Given the description of an element on the screen output the (x, y) to click on. 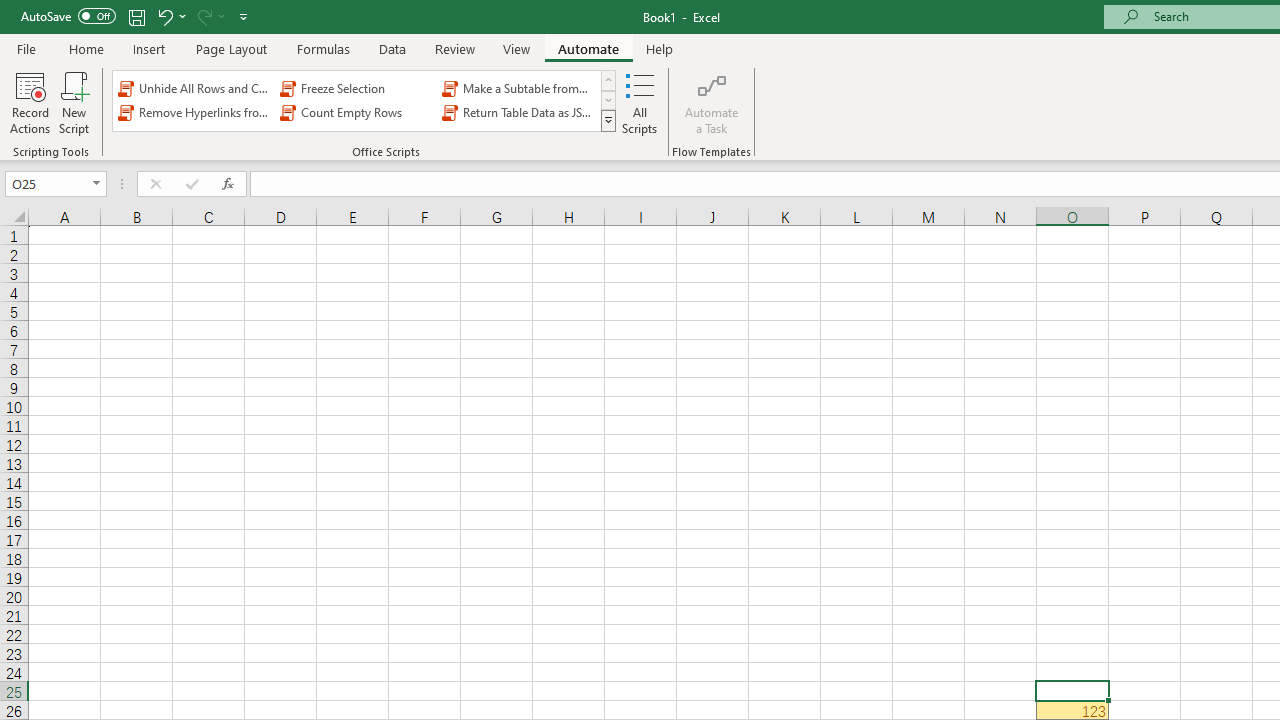
All Scripts (639, 102)
Record Actions (29, 102)
Automate a Task (712, 102)
Remove Hyperlinks from Sheet (194, 112)
Office Scripts (608, 120)
